Given the description of an element on the screen output the (x, y) to click on. 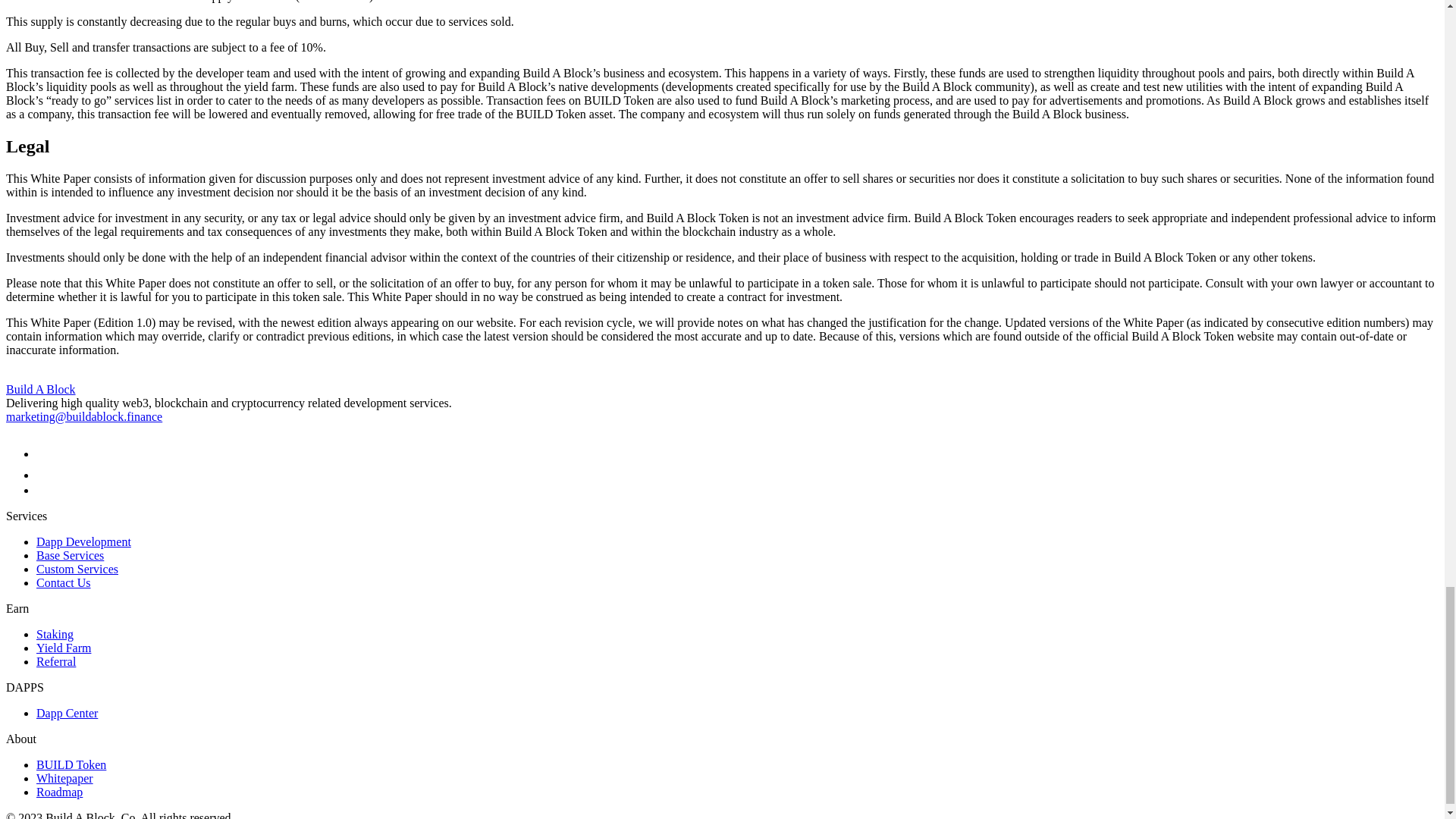
Custom Services (76, 568)
Base Services (69, 554)
Dapp Development (83, 541)
Staking (55, 634)
Contact Us (63, 582)
Yield Farm (63, 647)
